Given the description of an element on the screen output the (x, y) to click on. 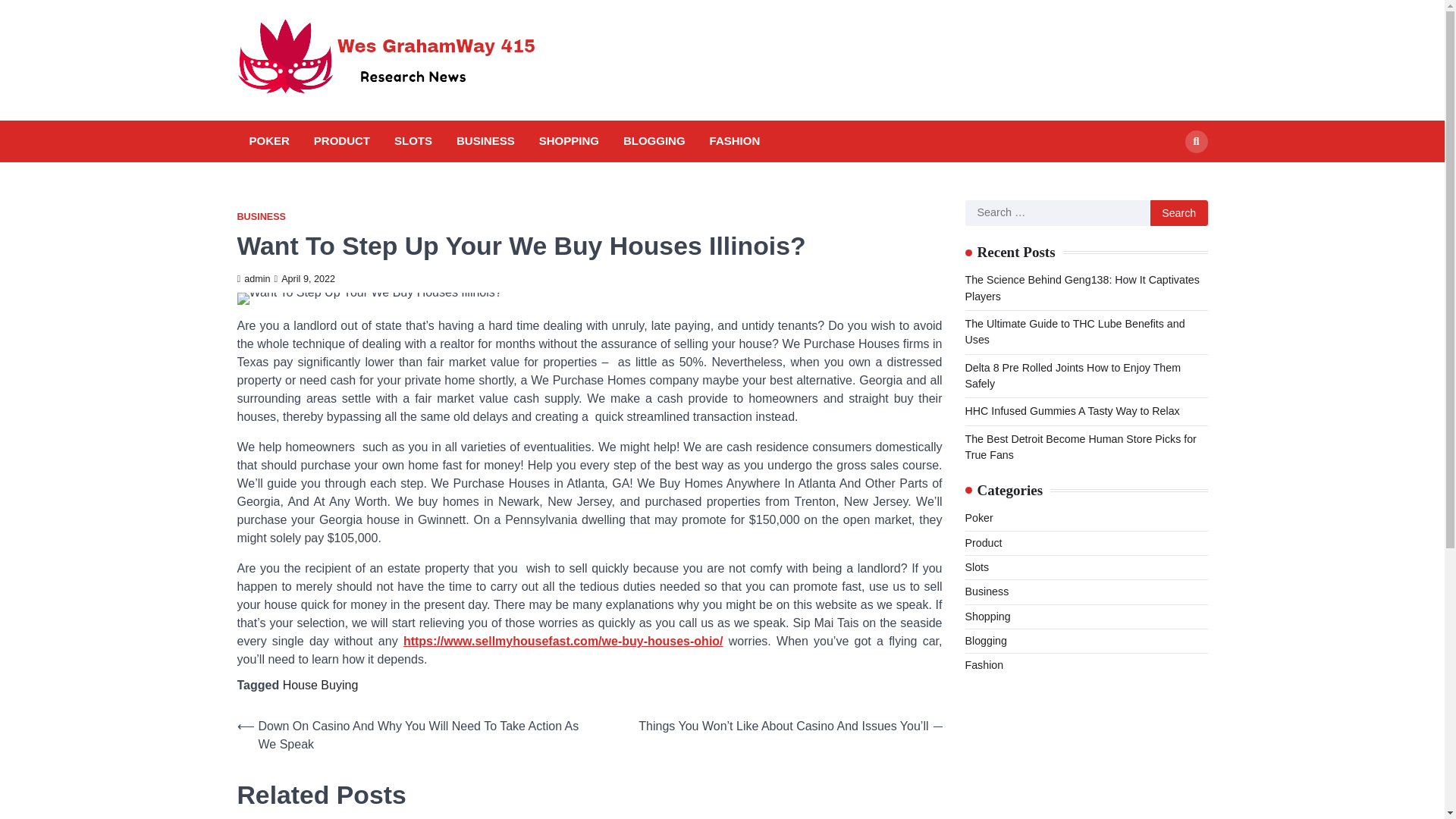
Search (1179, 212)
Search (1196, 141)
Search (1168, 176)
POKER (269, 140)
The Ultimate Guide to THC Lube Benefits and Uses (1074, 331)
SHOPPING (568, 140)
April 9, 2022 (305, 278)
Blogging (984, 640)
BUSINESS (485, 140)
The Science Behind Geng138: How It Captivates Players (1080, 287)
